Given the description of an element on the screen output the (x, y) to click on. 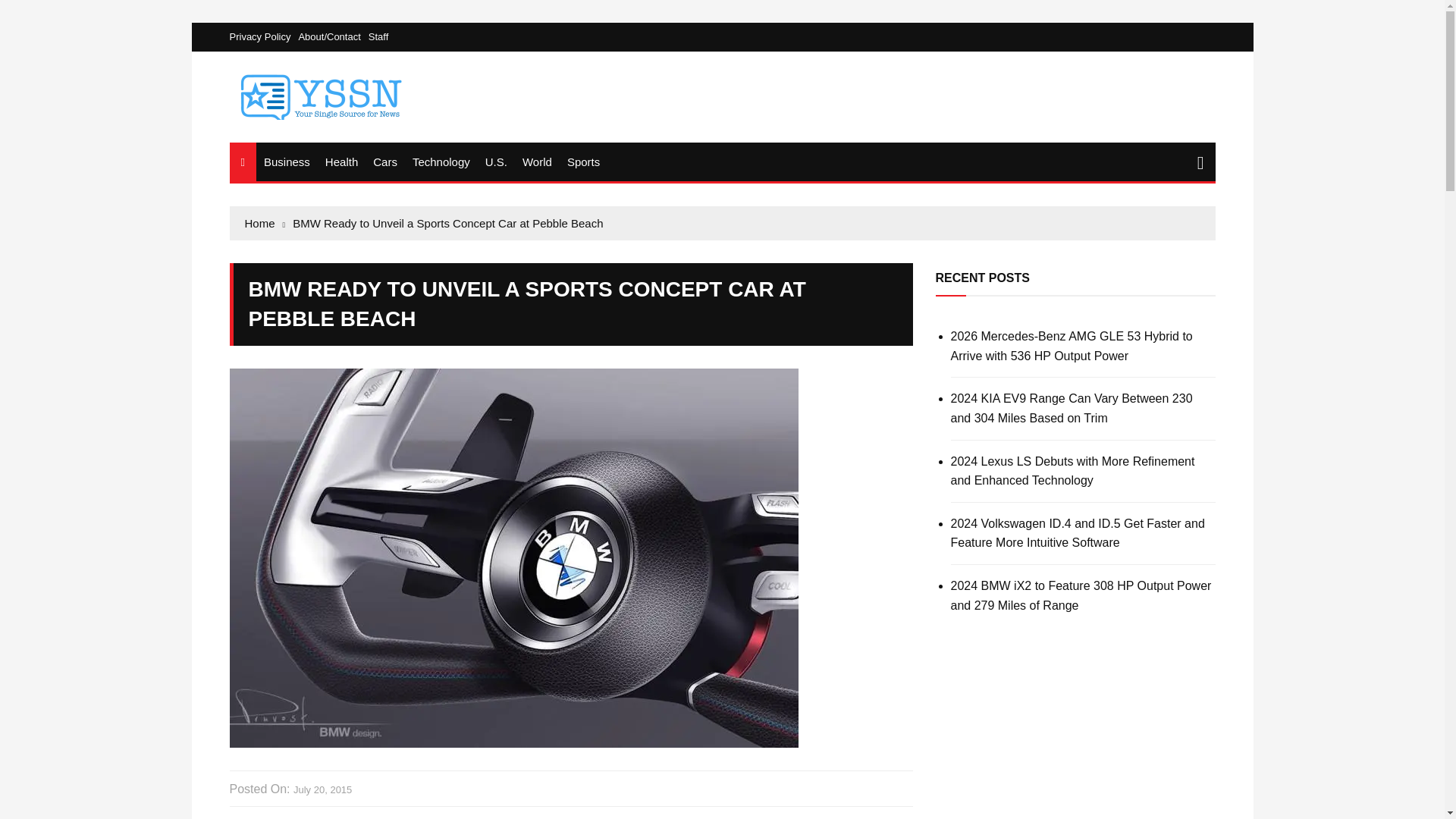
BMW Ready to Unveil a Sports Concept Car at Pebble Beach (447, 223)
Sports (583, 161)
Technology (440, 161)
World (537, 161)
Privacy Policy (263, 36)
Home (264, 223)
Business (286, 161)
Staff (378, 36)
July 20, 2015 (323, 790)
Cars (384, 161)
